Given the description of an element on the screen output the (x, y) to click on. 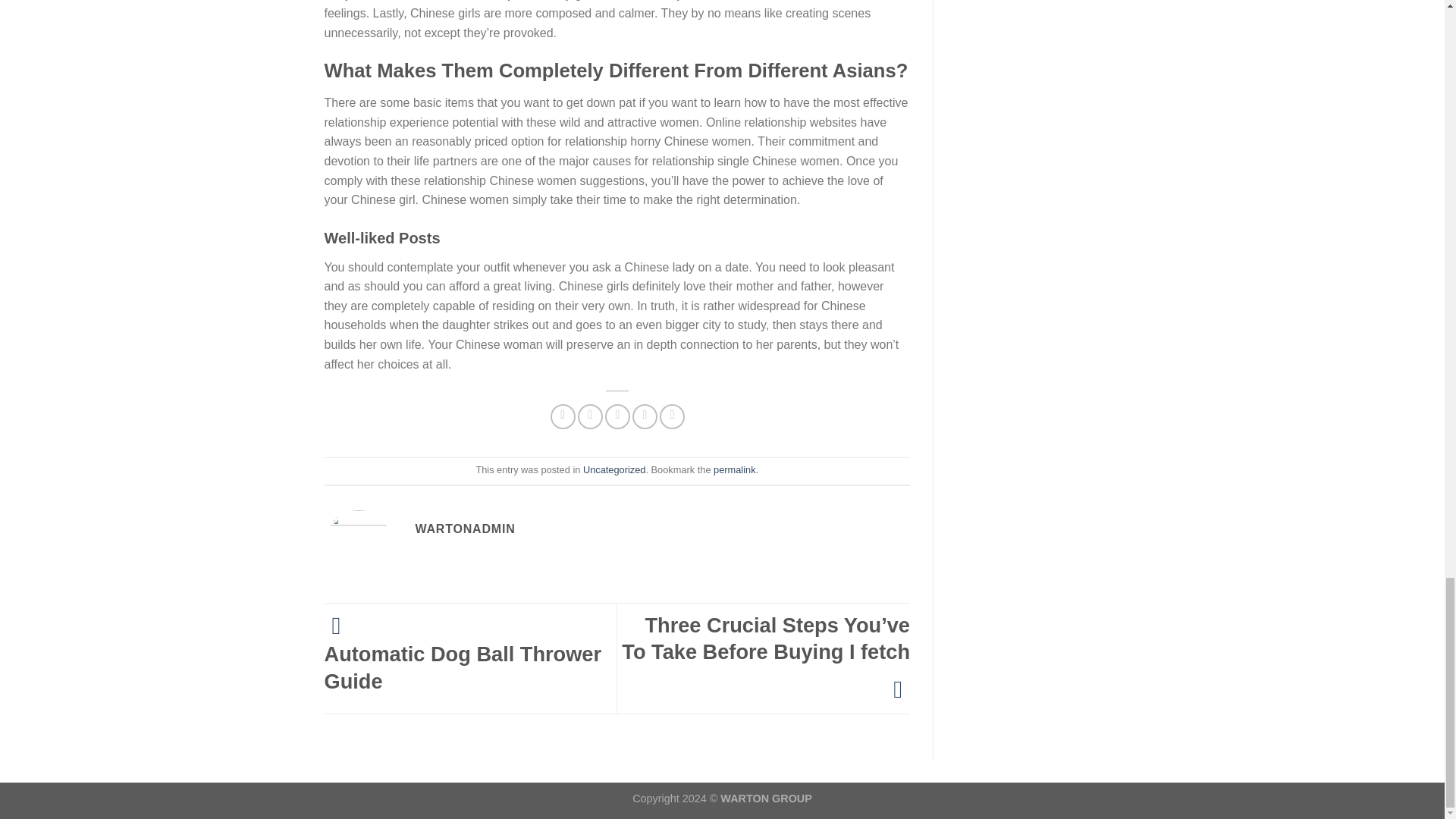
permalink (734, 469)
Automatic Dog Ball Thrower Guide (470, 656)
Uncategorized (614, 469)
